Given the description of an element on the screen output the (x, y) to click on. 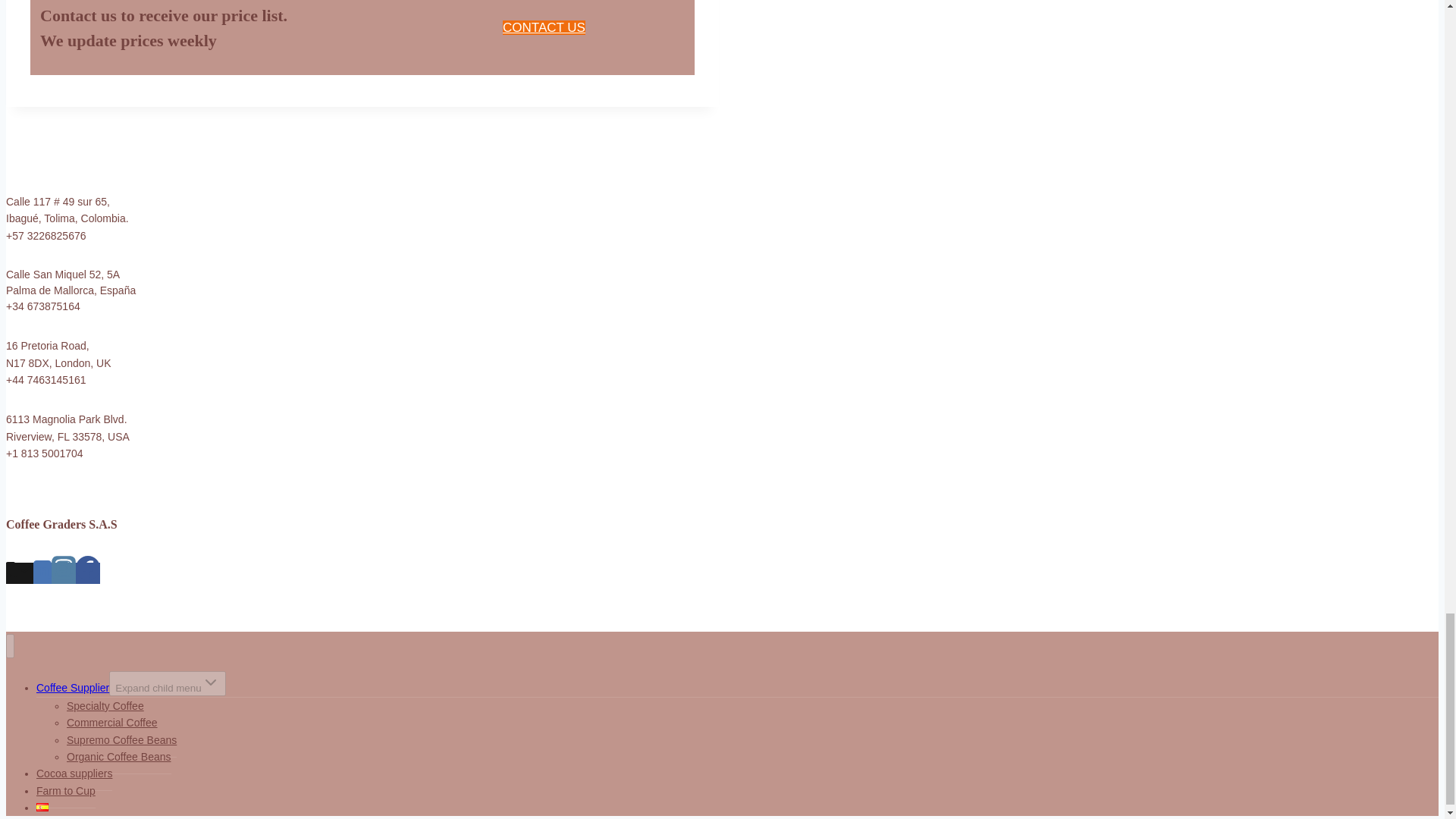
Instagram (62, 567)
Facebook (87, 572)
Organic Coffee Beans (118, 756)
Commercial Coffee (111, 722)
Coffee Supplier (72, 687)
CONTACT US (543, 27)
Email (23, 570)
Expand (210, 682)
Expand child menuExpand (167, 683)
Instagram (62, 572)
